Given the description of an element on the screen output the (x, y) to click on. 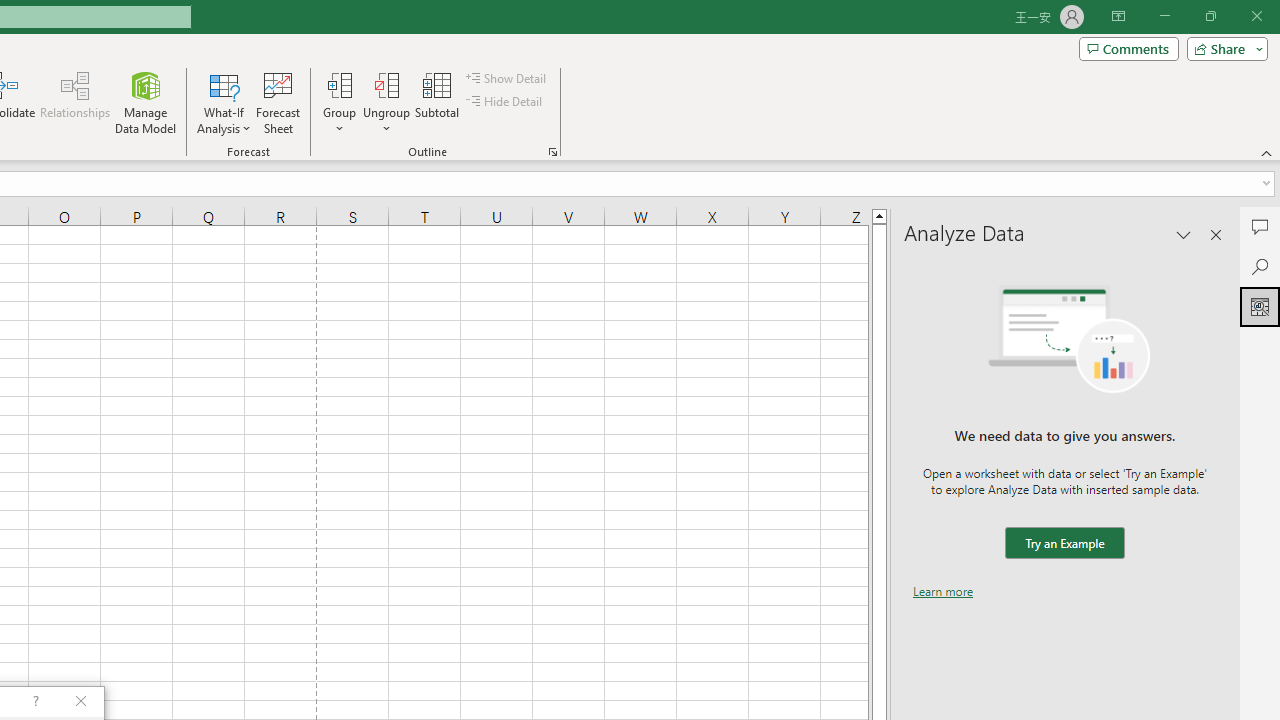
Ribbon Display Options (1118, 16)
Minimize (1164, 16)
Line up (879, 215)
Comments (1128, 48)
Share (1223, 48)
Close pane (1215, 234)
Restore Down (1210, 16)
Close (1256, 16)
Show Detail (507, 78)
Group... (339, 84)
Group and Outline Settings (552, 151)
Ungroup... (386, 102)
Analyze Data (1260, 306)
Group... (339, 102)
